Given the description of an element on the screen output the (x, y) to click on. 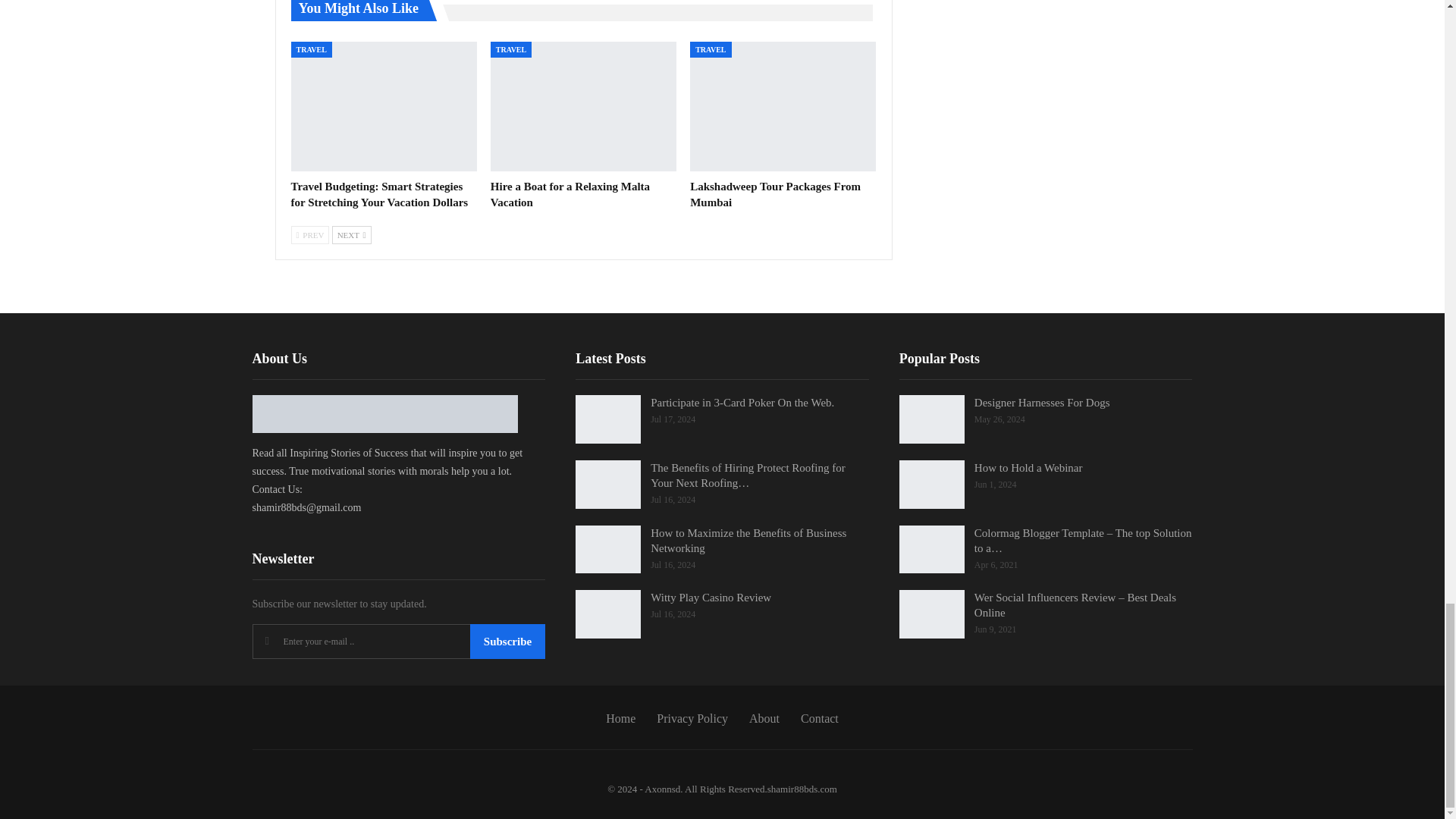
Hire a Boat for a Relaxing Malta Vacation (569, 194)
Lakshadweep Tour Packages From Mumbai (783, 106)
Hire a Boat for a Relaxing Malta Vacation (583, 106)
